Given the description of an element on the screen output the (x, y) to click on. 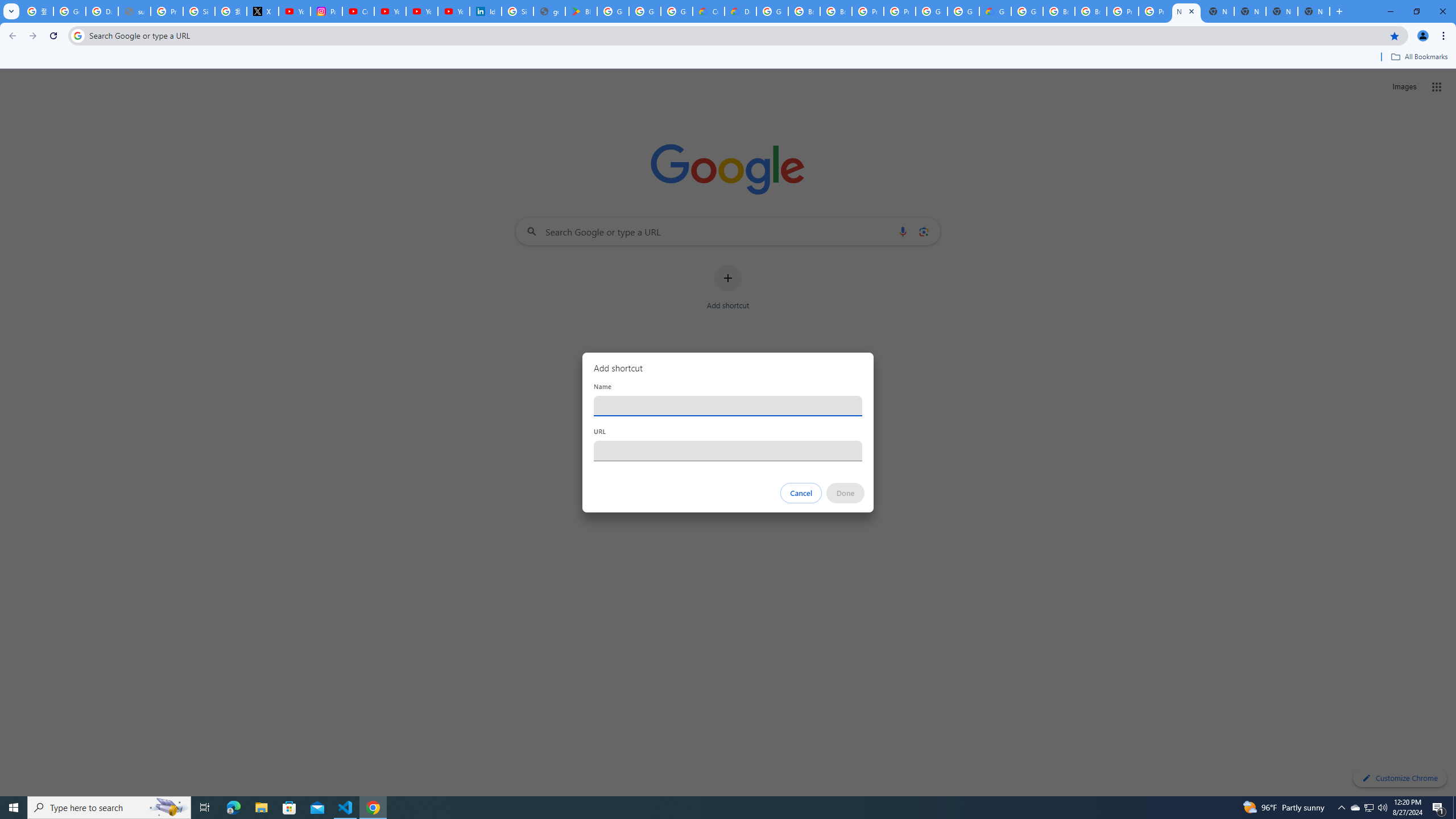
Google Cloud Platform (1027, 11)
Google Workspace - Specific Terms (644, 11)
Browse Chrome as a guest - Computer - Google Chrome Help (1059, 11)
URL (727, 450)
